Given the description of an element on the screen output the (x, y) to click on. 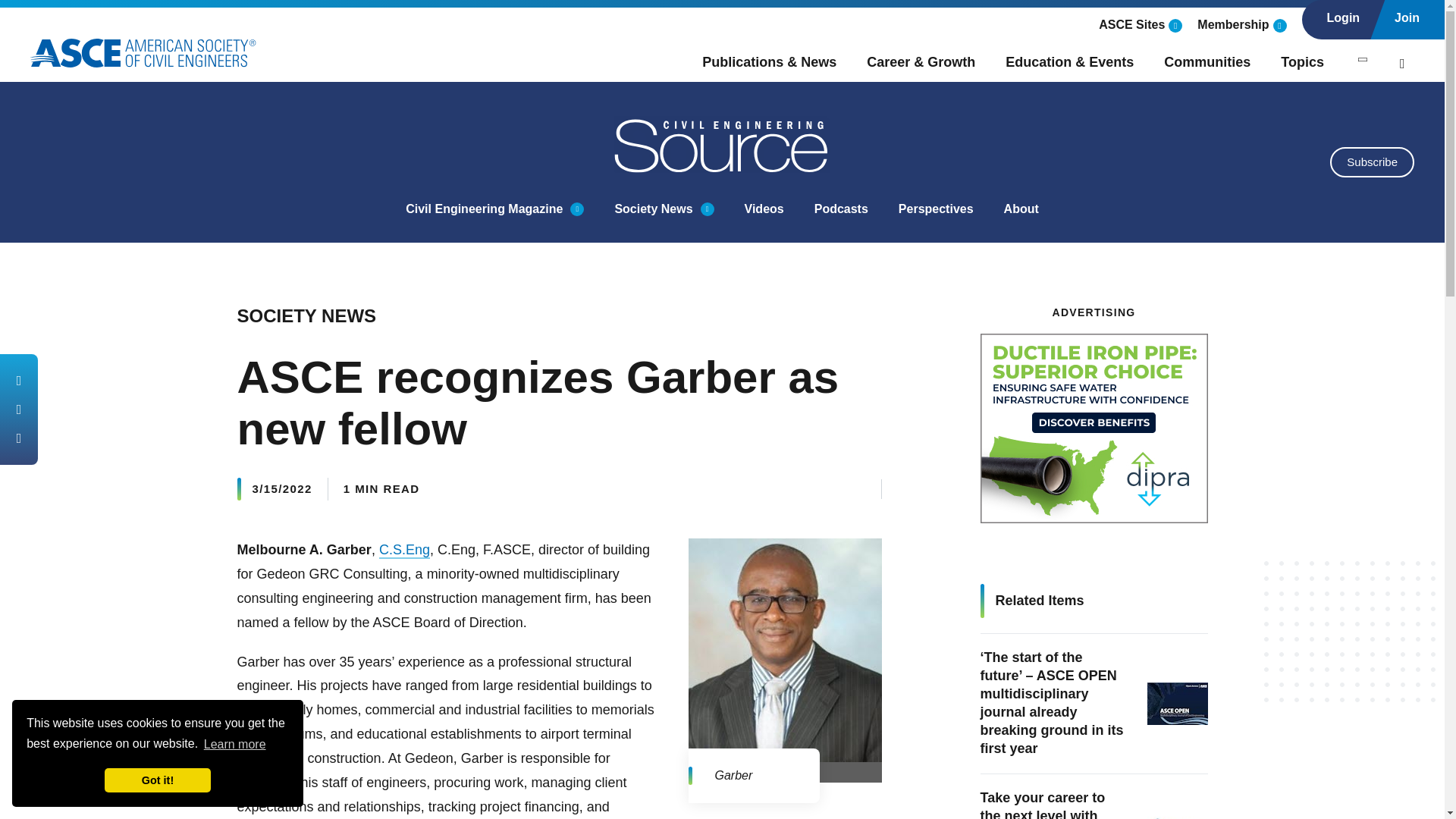
Videos (764, 209)
C.S.Eng (403, 550)
Civil Engineering Source (722, 143)
Got it! (157, 780)
Civil Engineering Magazine (484, 209)
Podcasts (840, 209)
Learn more (234, 743)
Subscribe to ASCE's Civil Engineering Source (1371, 162)
